Given the description of an element on the screen output the (x, y) to click on. 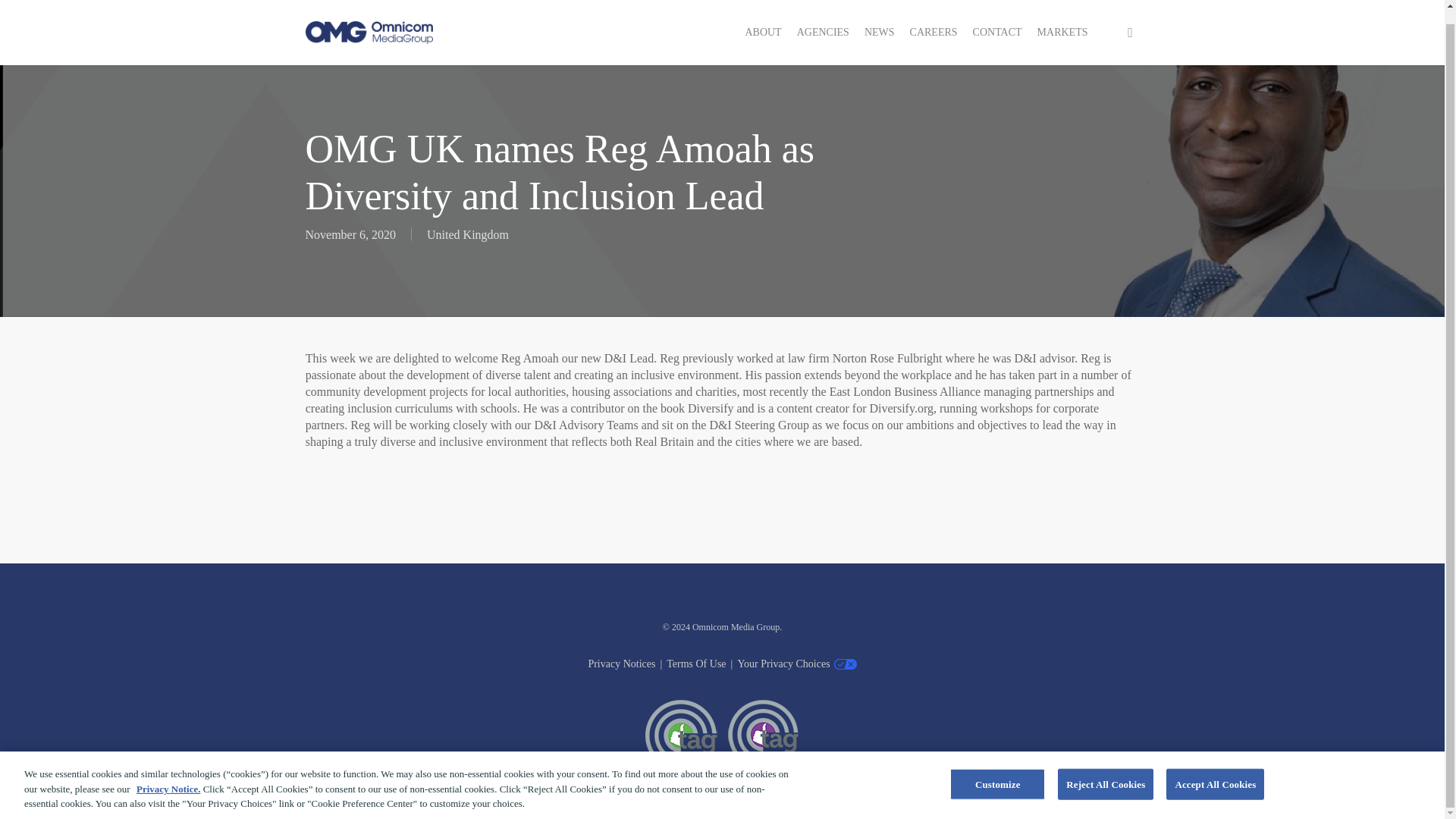
Privacy Notices (621, 664)
search (1129, 18)
United Kingdom (467, 233)
NEWS (879, 18)
Your Privacy Choices (782, 664)
ABOUT (762, 18)
CONTACT (997, 18)
CAREERS (933, 18)
Terms Of Use (695, 664)
MARKETS (1062, 18)
AGENCIES (823, 18)
